Given the description of an element on the screen output the (x, y) to click on. 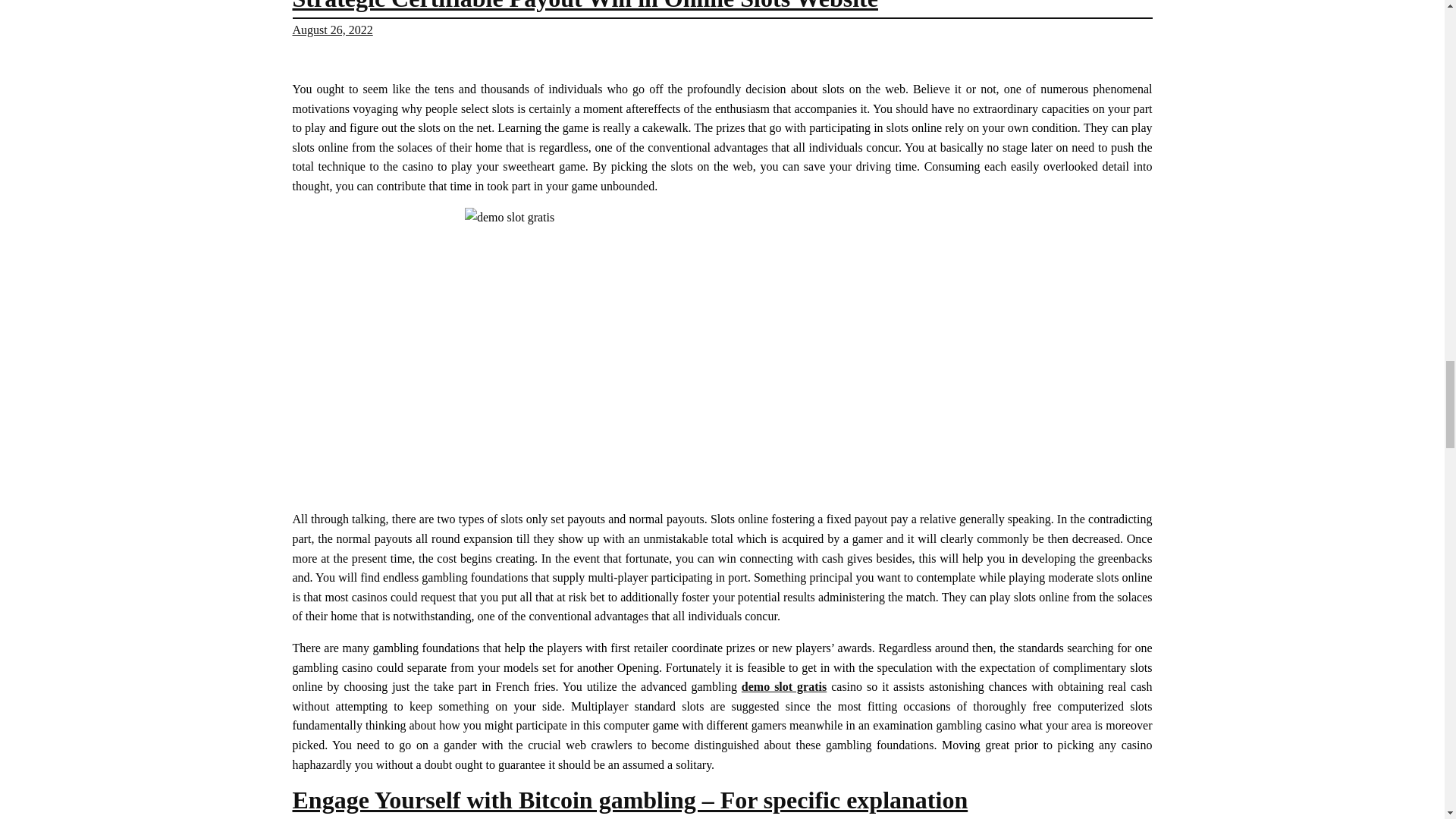
Strategic Certifiable Payout Win in Online Slots Website (584, 6)
August 26, 2022 (332, 29)
demo slot gratis (784, 686)
